Given the description of an element on the screen output the (x, y) to click on. 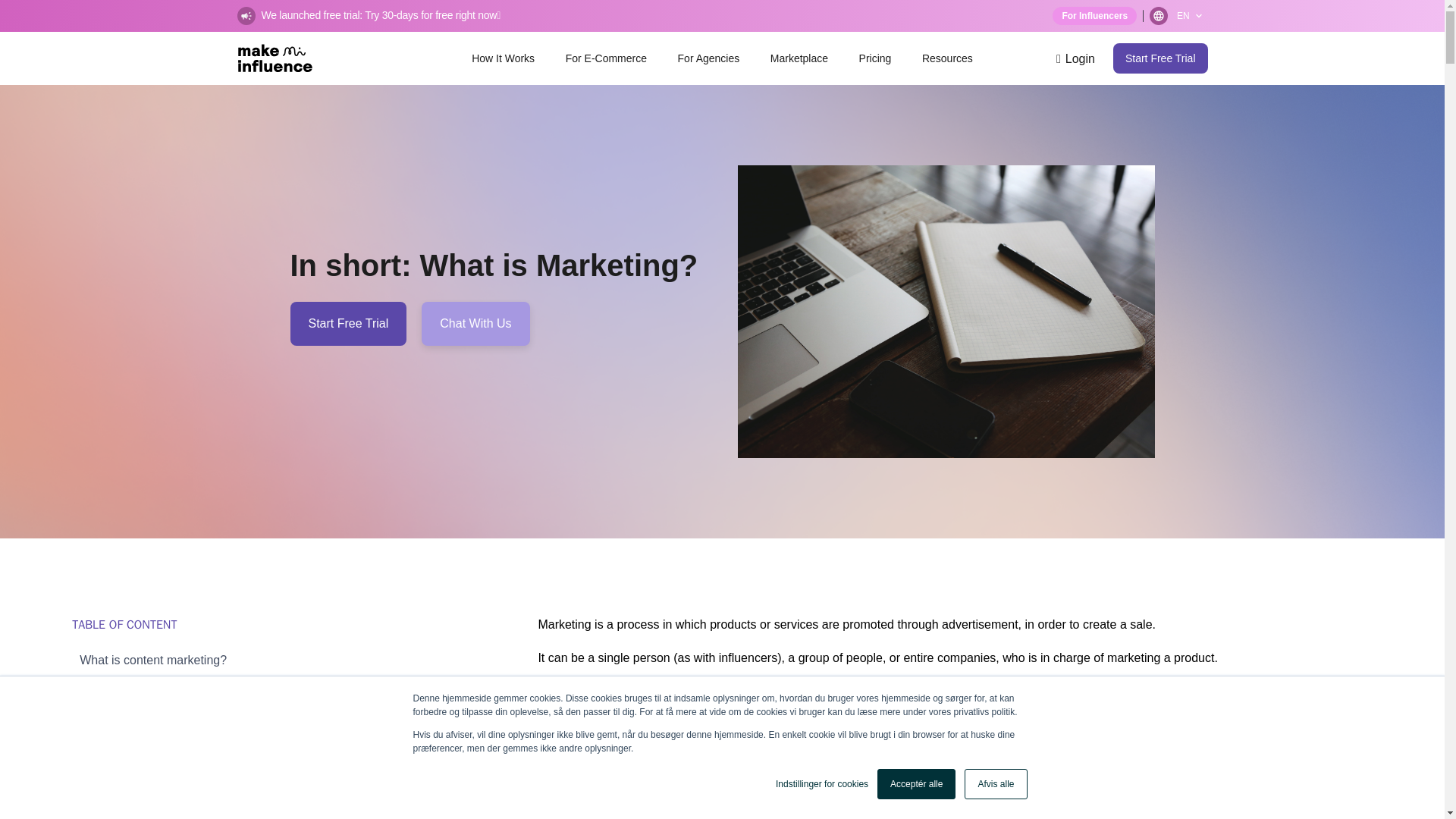
What is content marketing? (192, 659)
Content marketing for influencers (192, 690)
How It Works (502, 58)
Indstillinger for cookies (821, 784)
Afvis alle (994, 784)
Start Free Trial (347, 323)
For Influencers (1094, 15)
For Agencies (708, 58)
Resources (946, 58)
Pricing (875, 58)
For E-Commerce (606, 58)
Marketplace (799, 58)
What is digital marketing? (192, 768)
Chat With Us (475, 323)
